Given the description of an element on the screen output the (x, y) to click on. 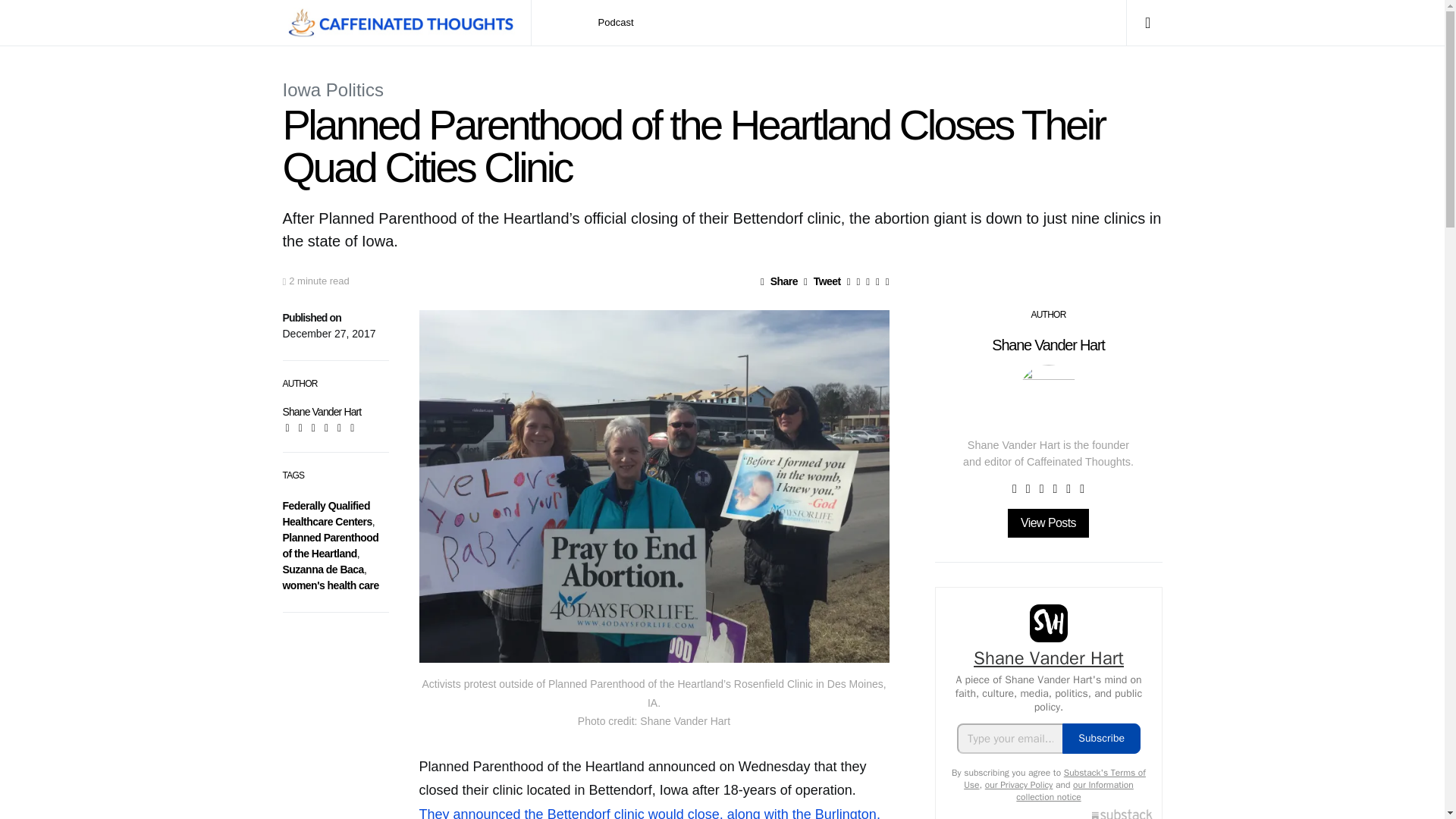
Suzanna de Baca (322, 569)
Planned Parenthood of the Heartland (330, 545)
Iowa Politics (332, 89)
Tweet (822, 280)
Shane Vander Hart (321, 411)
women's health care (330, 585)
Podcast (616, 22)
Federally Qualified Healthcare Centers (326, 513)
Share (778, 280)
